Given the description of an element on the screen output the (x, y) to click on. 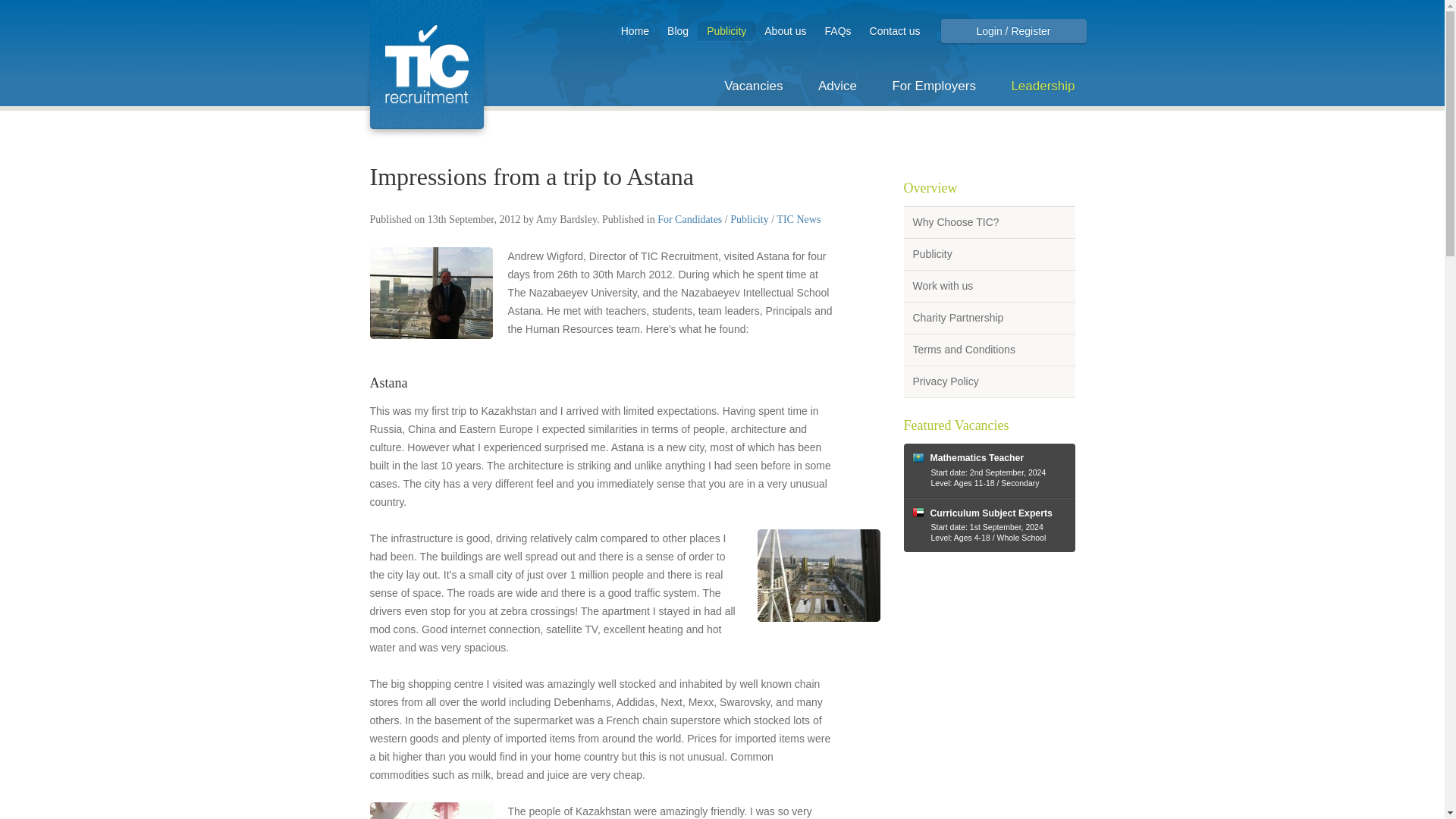
FAQs (837, 30)
Vacancies (753, 85)
TIC News (798, 219)
Contact us (895, 30)
TIC Recruitment - Specialists in International Teaching Jobs (426, 70)
Blog (677, 30)
For Candidates (690, 219)
Advice (836, 85)
Leadership (1042, 85)
Publicity (749, 219)
